Given the description of an element on the screen output the (x, y) to click on. 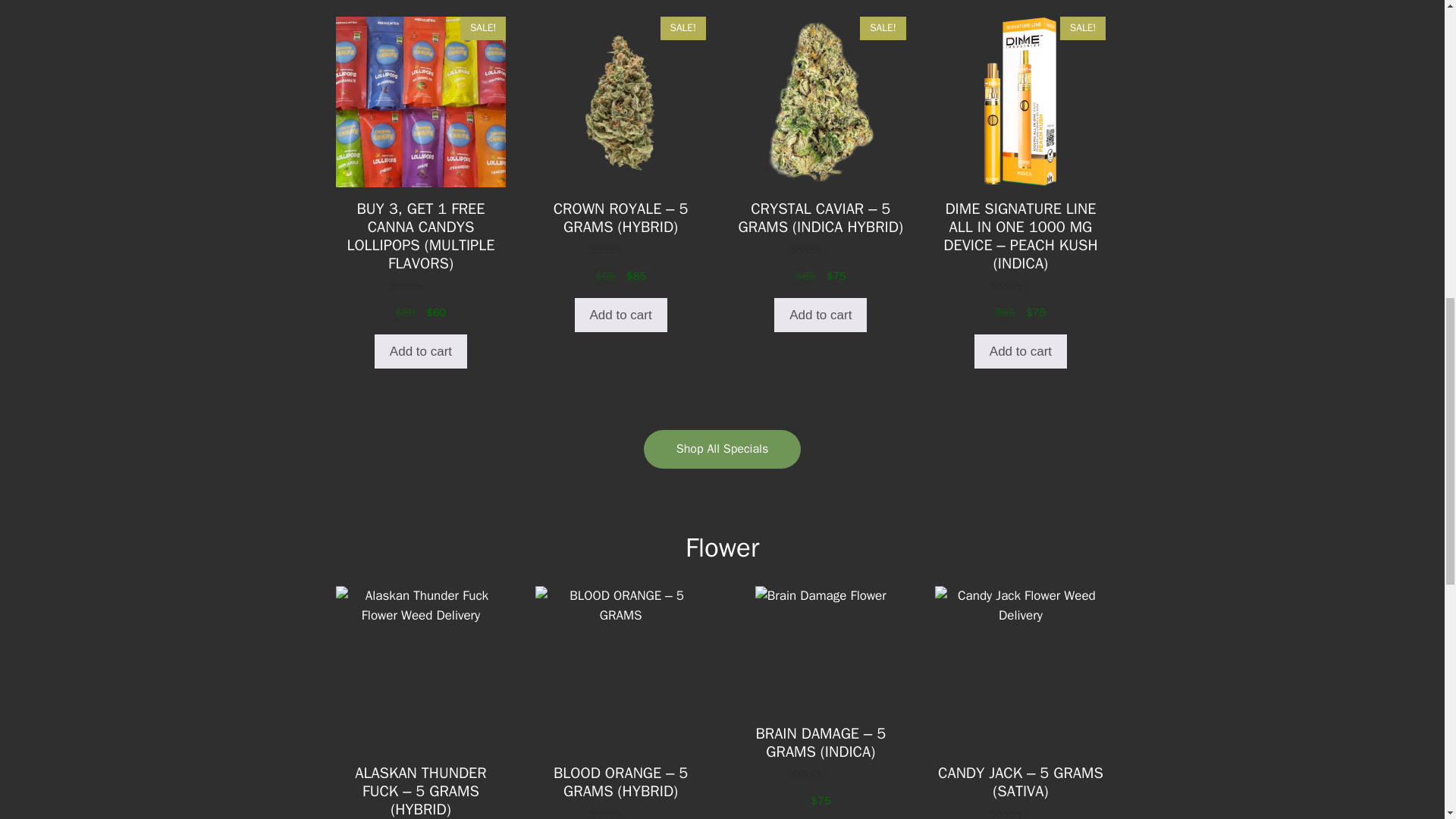
Not yet rated (820, 249)
Add to cart (1020, 351)
Not yet rated (421, 285)
Add to cart (620, 315)
Not yet rated (620, 249)
Shop All Specials (721, 448)
Add to cart (820, 315)
Not yet rated (620, 813)
Not yet rated (820, 774)
Add to cart (420, 351)
Not yet rated (1021, 285)
Not yet rated (1021, 813)
